Given the description of an element on the screen output the (x, y) to click on. 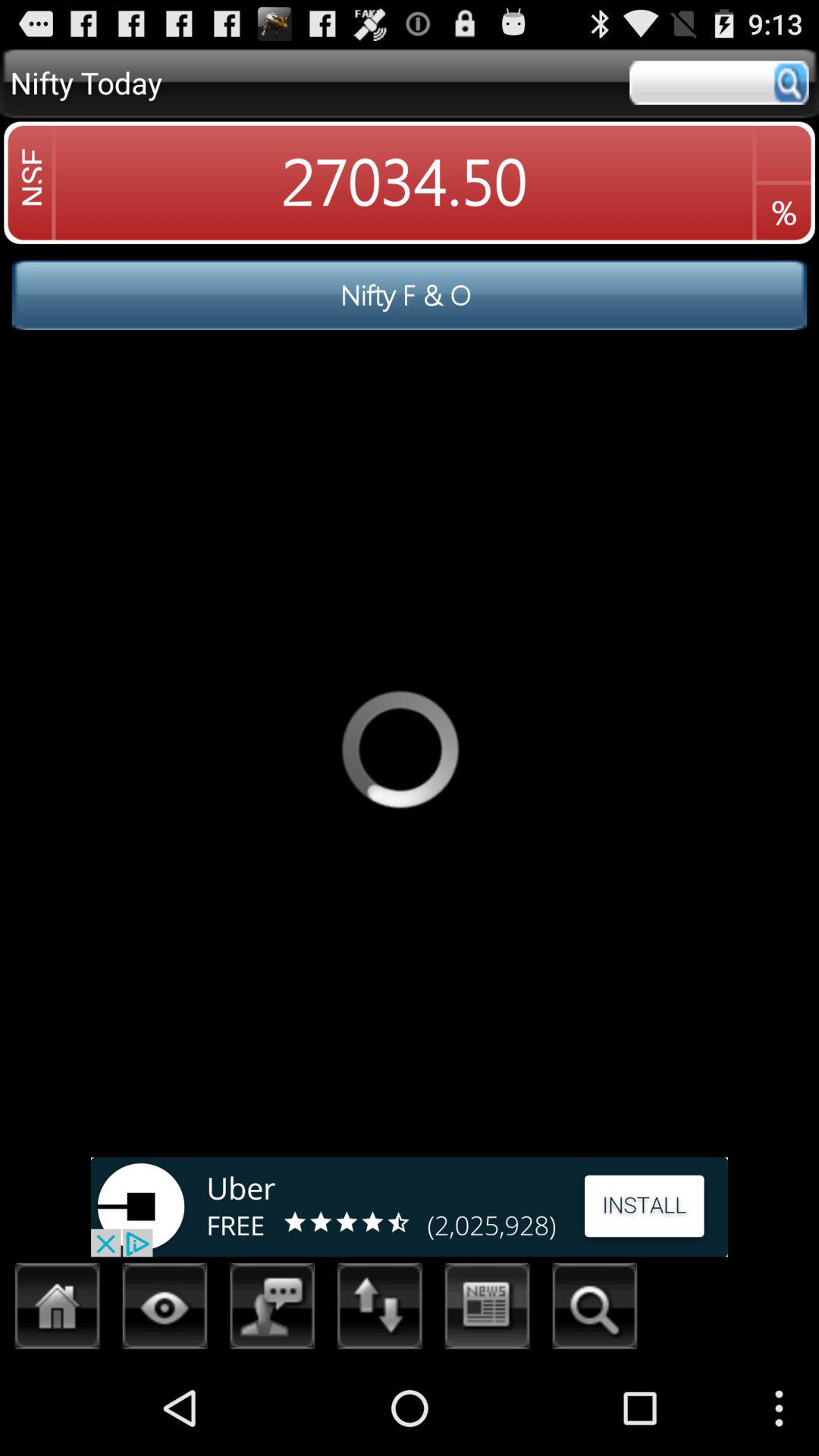
message (272, 1310)
